Given the description of an element on the screen output the (x, y) to click on. 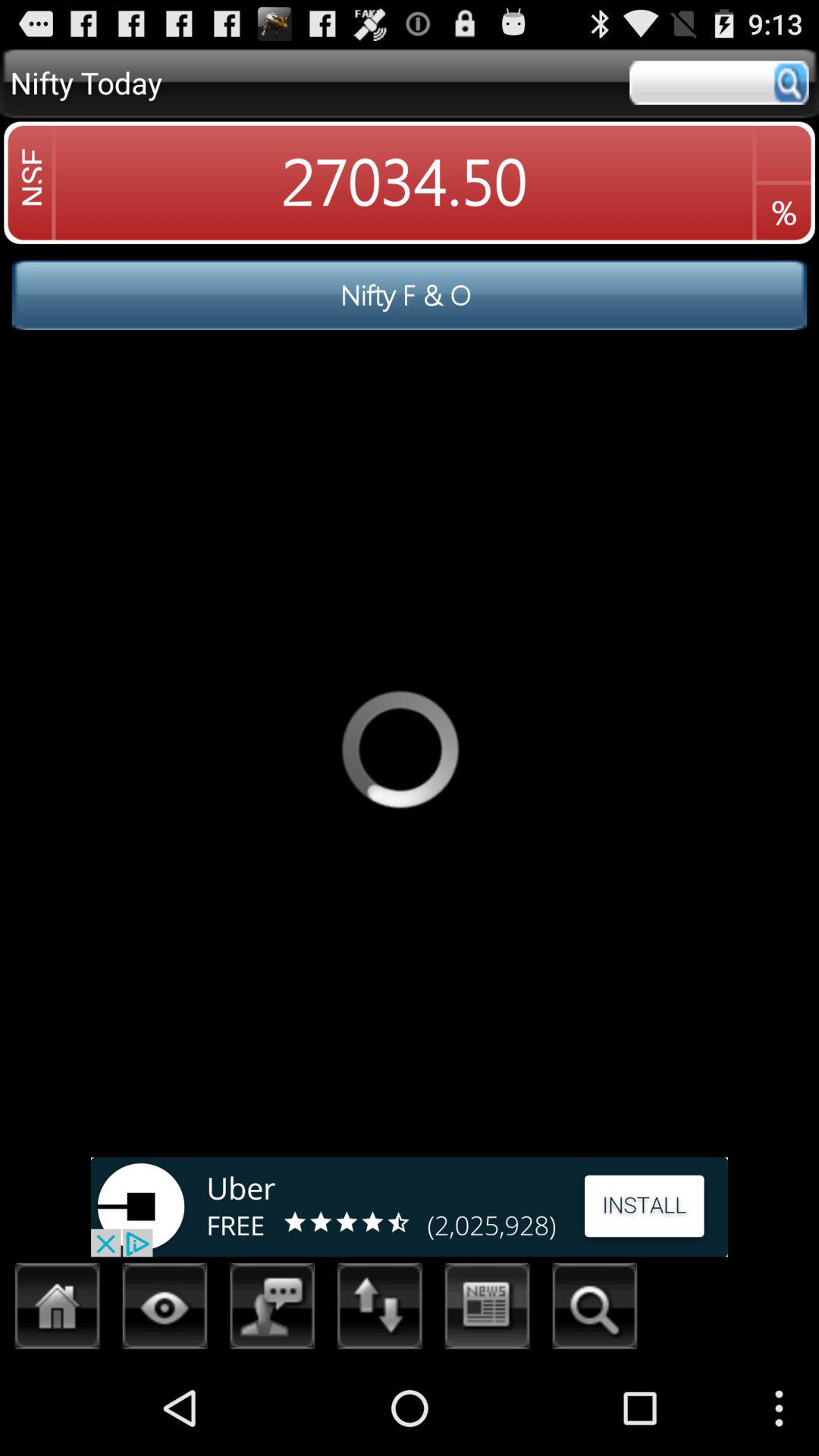
message (272, 1310)
